Given the description of an element on the screen output the (x, y) to click on. 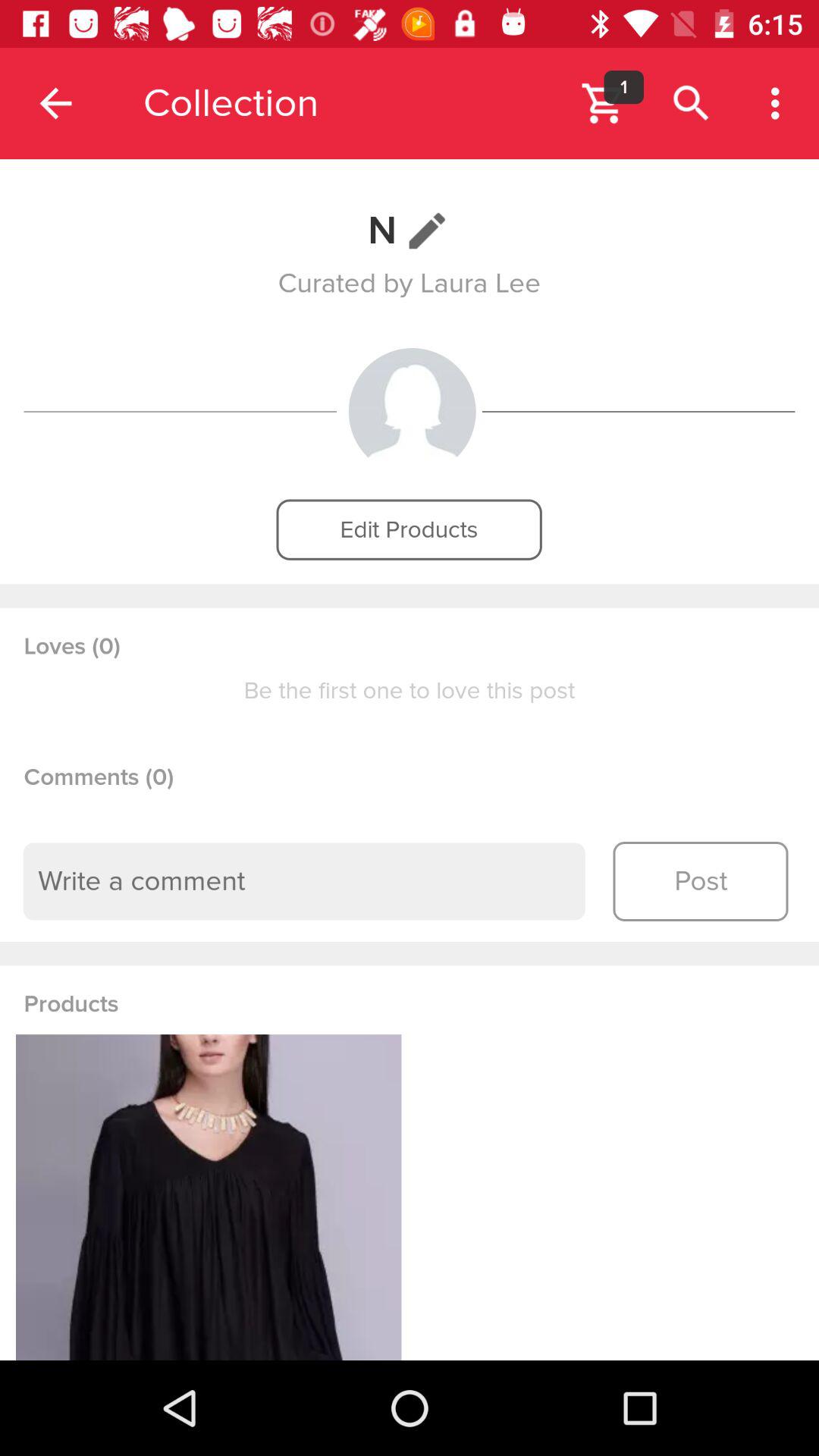
launch icon above curated by laura (409, 230)
